Given the description of an element on the screen output the (x, y) to click on. 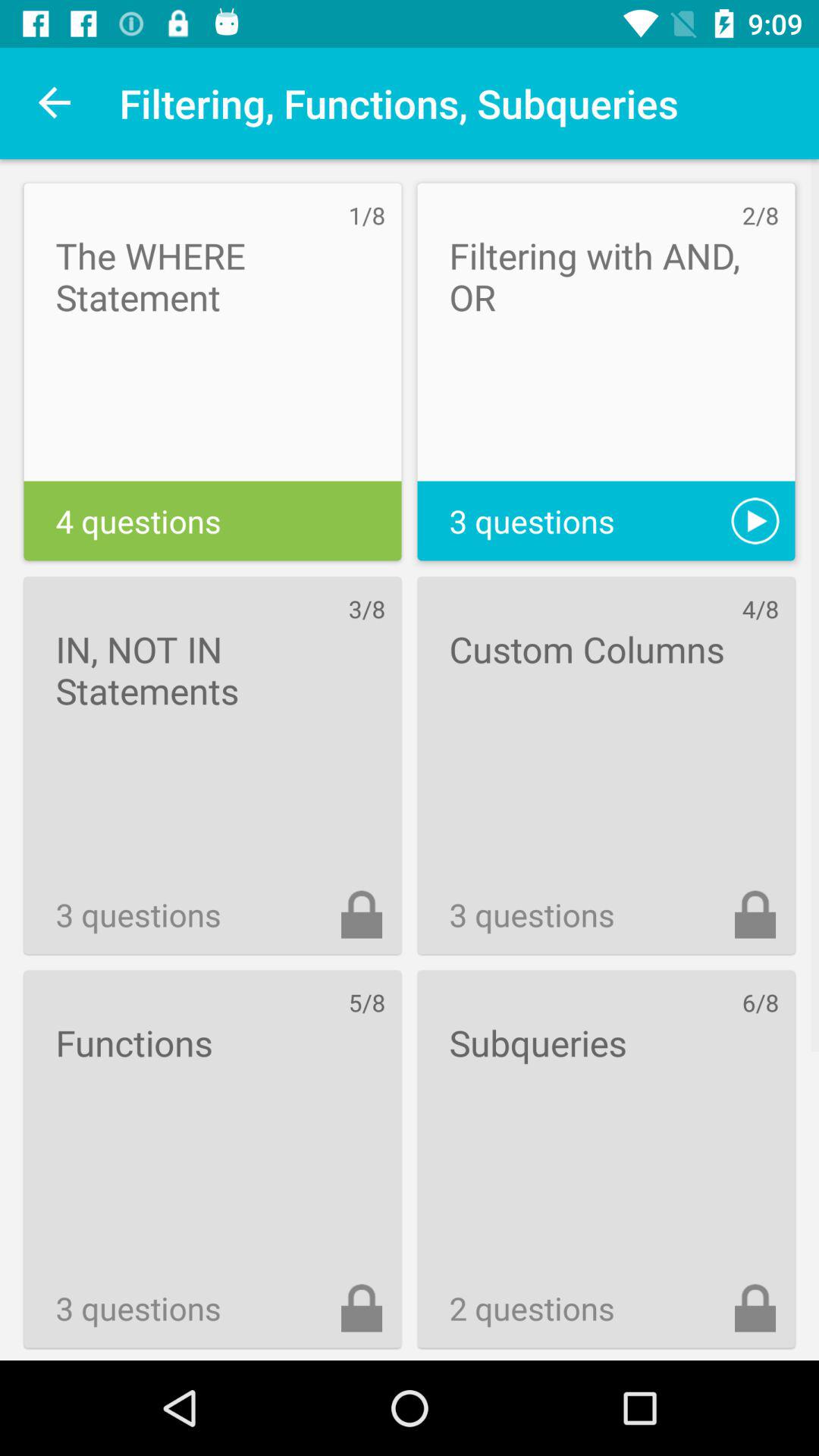
open the item next to the filtering, functions, subqueries (55, 103)
